Given the description of an element on the screen output the (x, y) to click on. 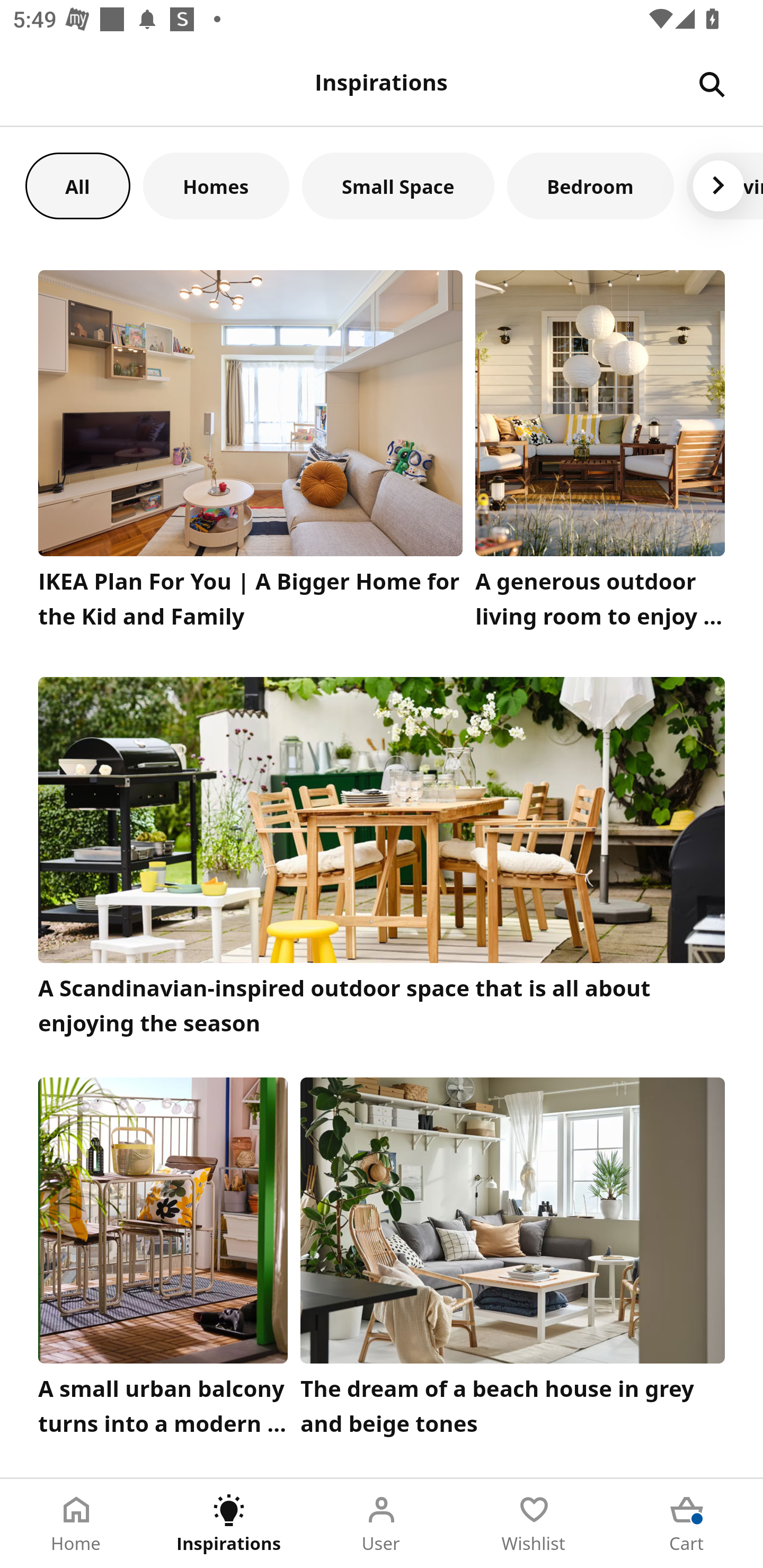
All (77, 185)
Homes (216, 185)
Small Space (398, 185)
Bedroom (590, 185)
The dream of a beach house in grey and beige tones (512, 1261)
Home
Tab 1 of 5 (76, 1522)
Inspirations
Tab 2 of 5 (228, 1522)
User
Tab 3 of 5 (381, 1522)
Wishlist
Tab 4 of 5 (533, 1522)
Cart
Tab 5 of 5 (686, 1522)
